Given the description of an element on the screen output the (x, y) to click on. 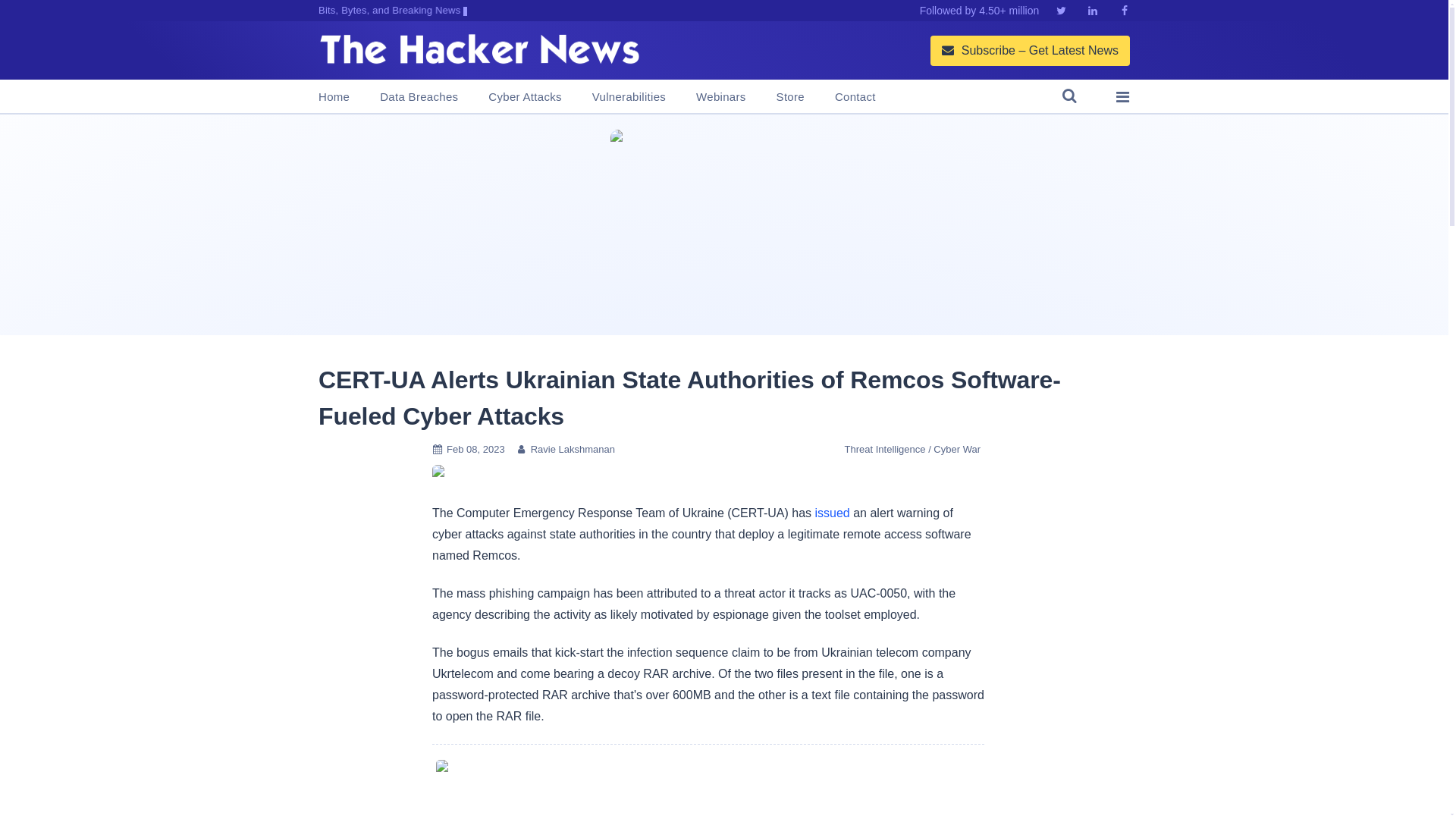
Cyber Attacks (523, 96)
Data Breaches (419, 96)
Store (790, 96)
Home (333, 96)
Insider Risk Management (724, 224)
Vulnerabilities (628, 96)
Cybersecurity (707, 789)
Webinars (720, 96)
Contact (855, 96)
Cyber Attacks (438, 475)
issued (830, 512)
